Given the description of an element on the screen output the (x, y) to click on. 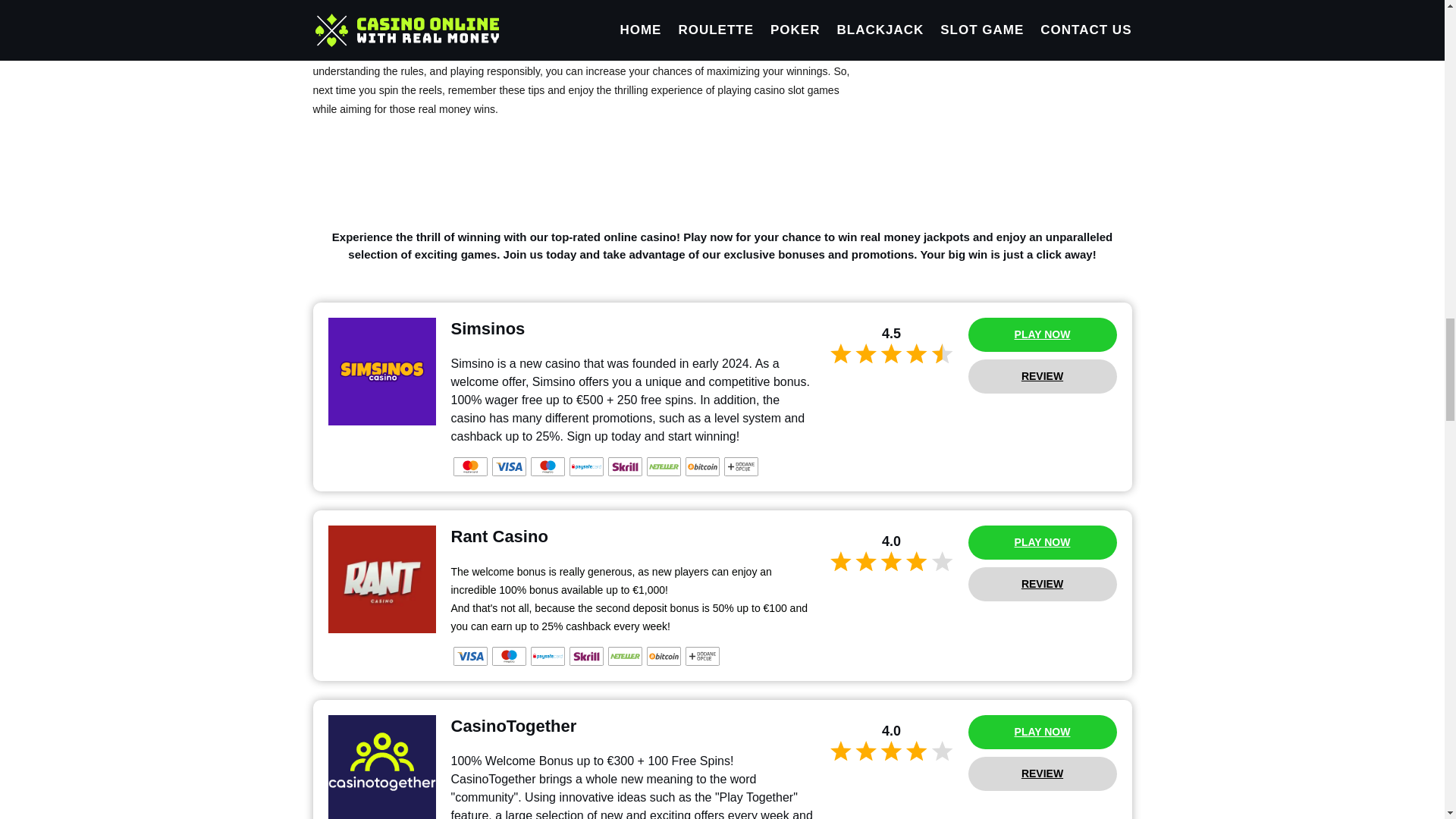
Visa (469, 656)
Paysafecard (585, 466)
Rant Casino (381, 579)
PLAY NOW (1042, 542)
Paysafecard (547, 656)
PLAY NOW (1042, 731)
Skrill (625, 466)
REVIEW (1042, 376)
Maestro (508, 656)
Visa (508, 466)
Neteller (662, 466)
Bitcoin (702, 466)
Dodatne (740, 466)
REVIEW (1042, 773)
PLAY NOW (1042, 334)
